Given the description of an element on the screen output the (x, y) to click on. 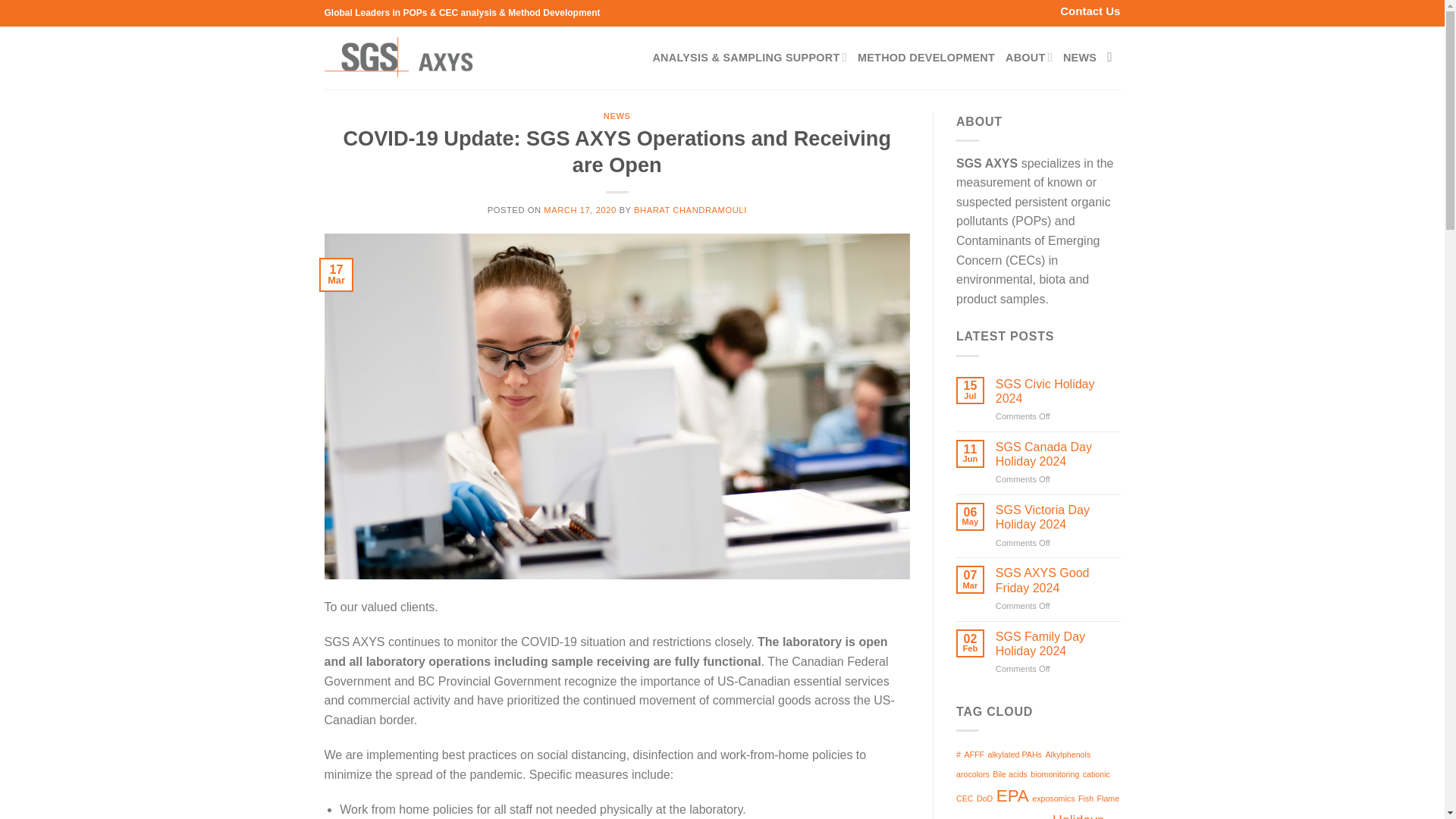
MARCH 17, 2020 (579, 209)
SGS Victoria Day Holiday 2024 (1058, 516)
SGS Civic Holiday 2024 (1058, 390)
SGS AXYS Good Friday 2024 (1058, 579)
SGS Canada Day Holiday 2024 (1058, 453)
NEWS (617, 114)
NEWS (1079, 57)
ABOUT (1029, 57)
SGS Family Day Holiday 2024 (1058, 643)
METHOD DEVELOPMENT (925, 57)
BHARAT CHANDRAMOULI (689, 209)
Contact Us (1089, 10)
